Given the description of an element on the screen output the (x, y) to click on. 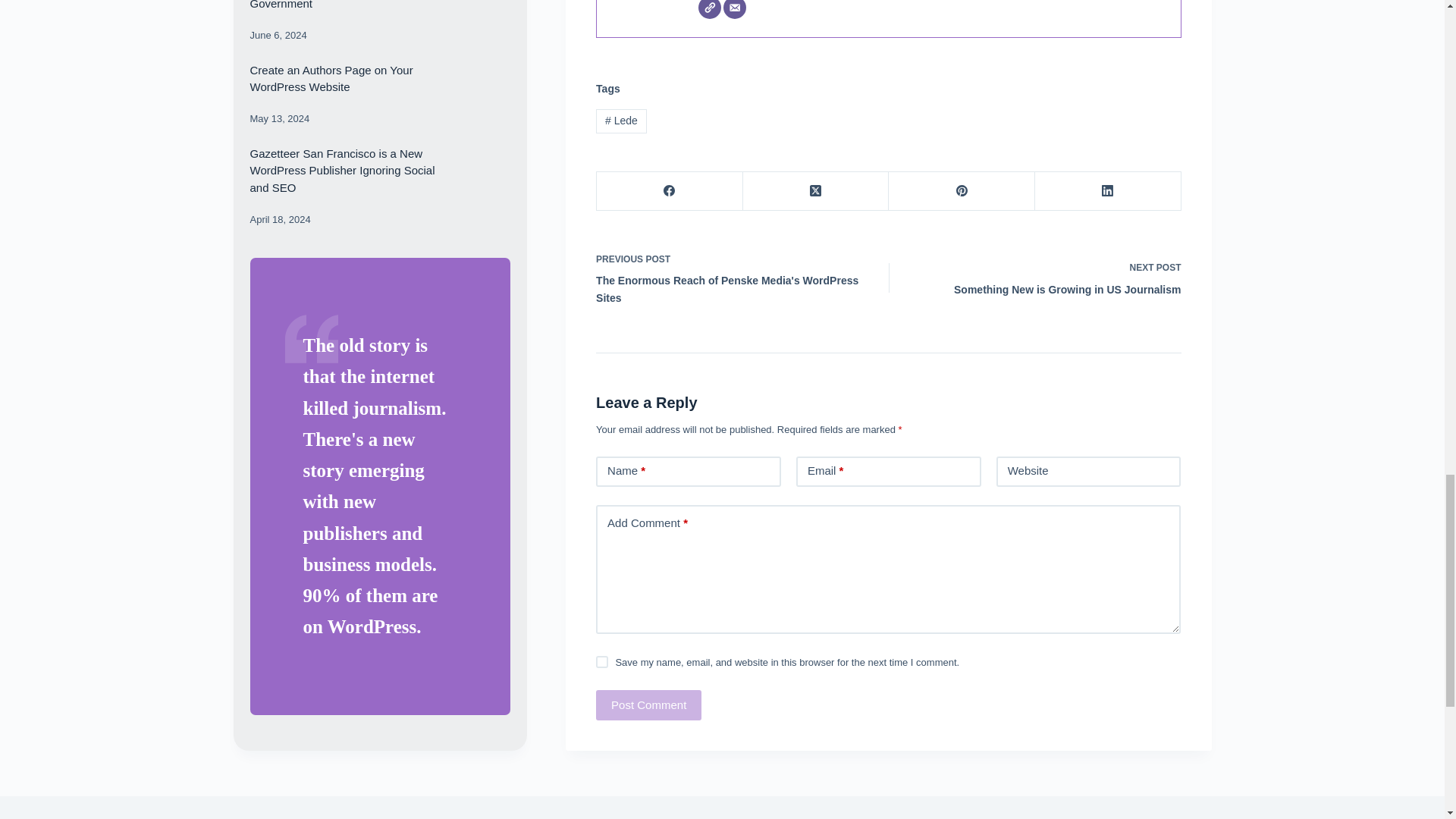
Post Comment (1046, 277)
yes (648, 705)
